Given the description of an element on the screen output the (x, y) to click on. 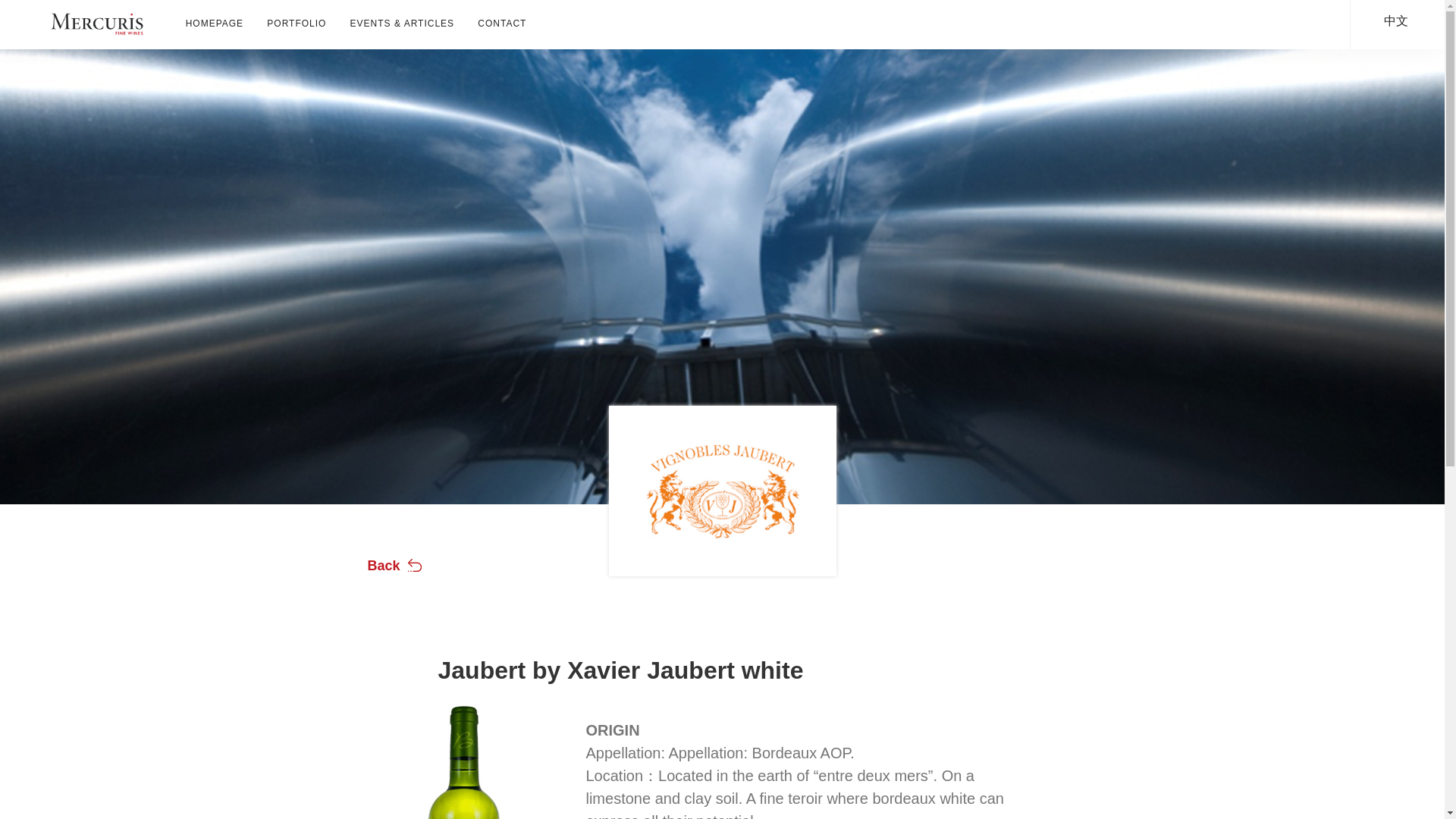
CONTACT (496, 23)
Back (382, 565)
PORTFOLIO (296, 23)
HOMEPAGE (221, 23)
